Given the description of an element on the screen output the (x, y) to click on. 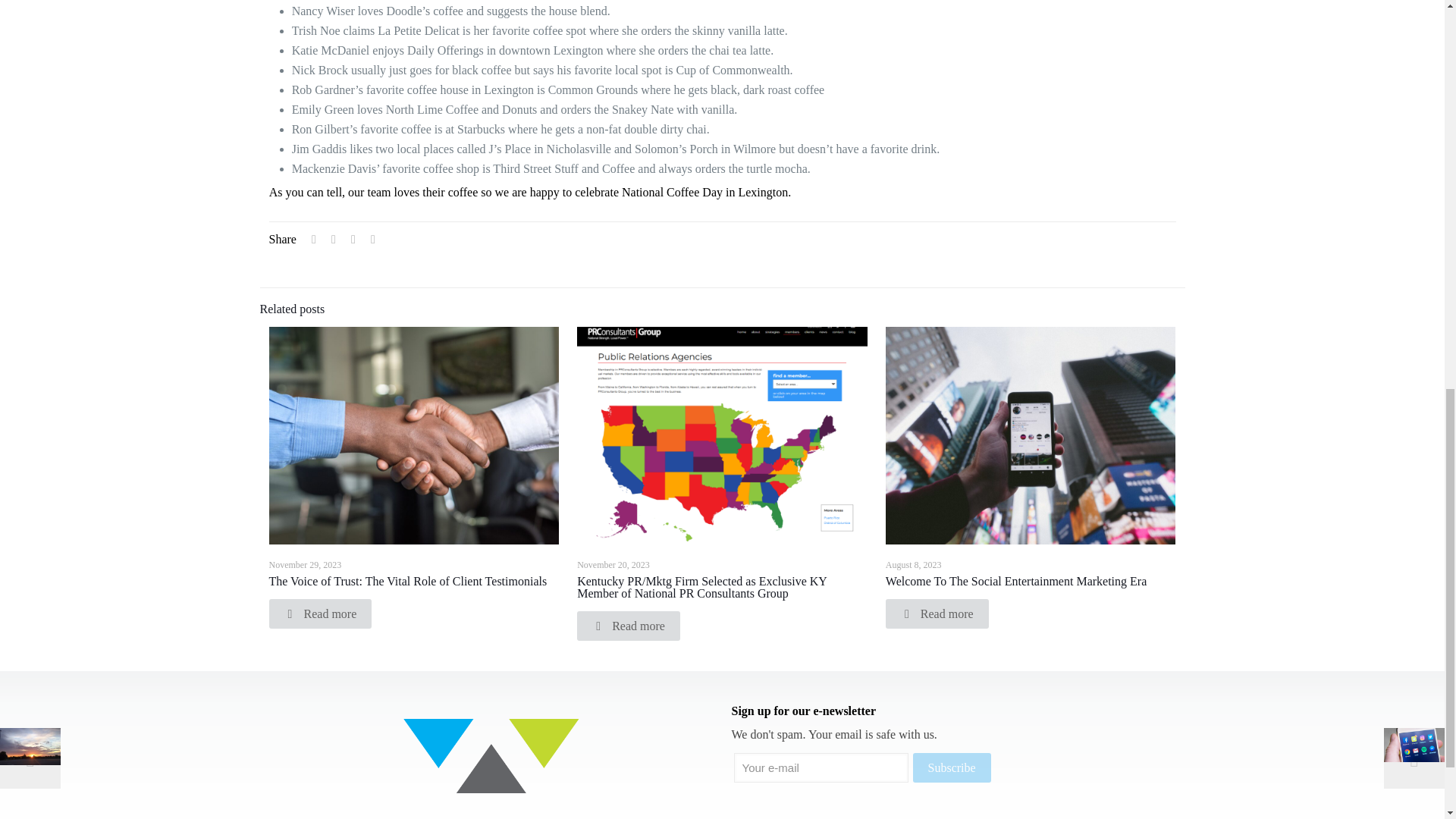
Subscribe (951, 767)
